Given the description of an element on the screen output the (x, y) to click on. 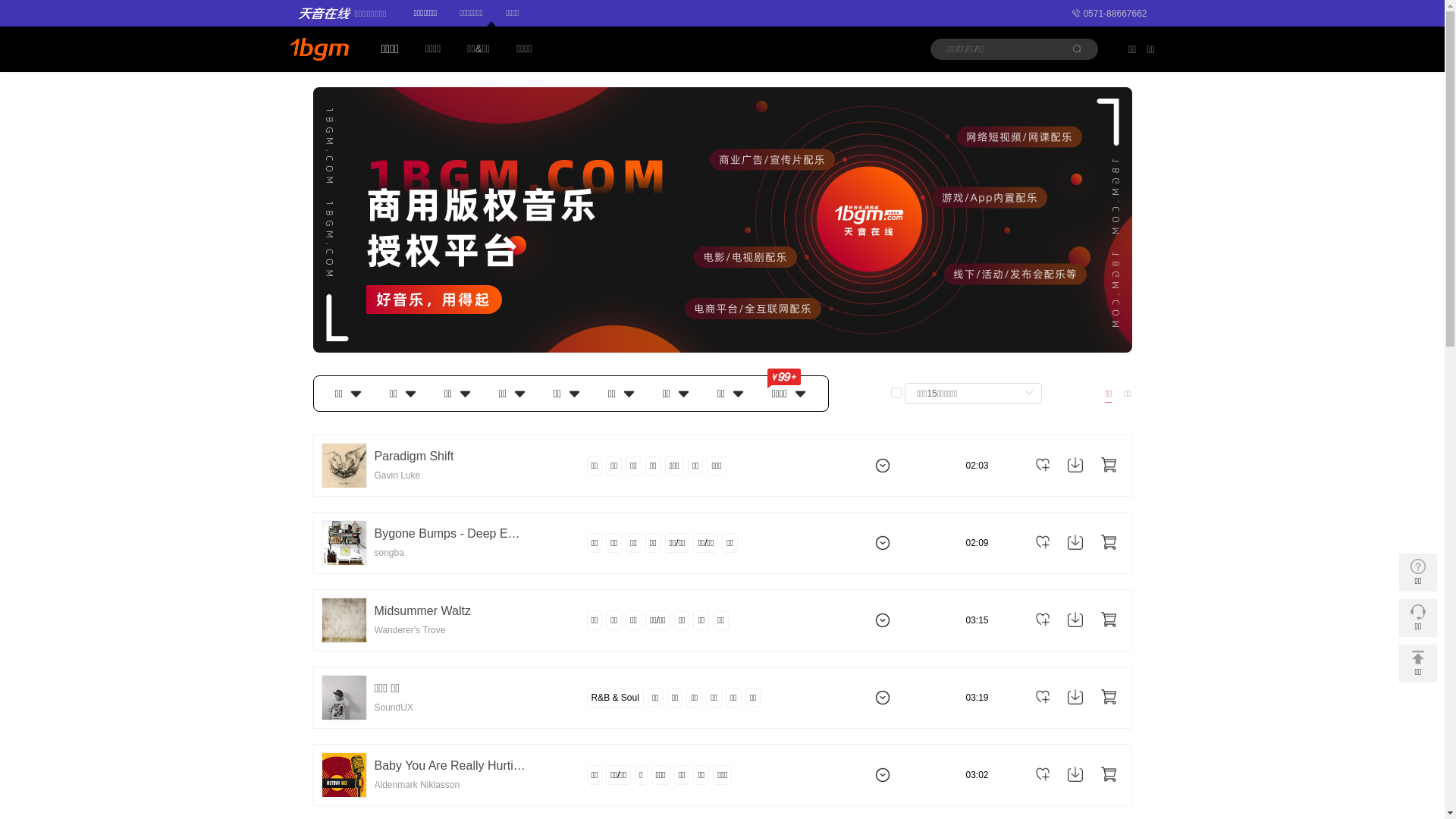
Wanderer's Trove Element type: text (409, 630)
SoundUX Element type: text (393, 707)
Midsummer Waltz Element type: text (422, 611)
Baby You Are Really Hurting Me Element type: text (450, 766)
Aldenmark Niklasson Element type: text (417, 784)
Gavin Luke Element type: text (397, 475)
Bygone Bumps - Deep East Music Element type: text (450, 534)
songba Element type: text (389, 552)
Paradigm Shift Element type: text (414, 456)
